Given the description of an element on the screen output the (x, y) to click on. 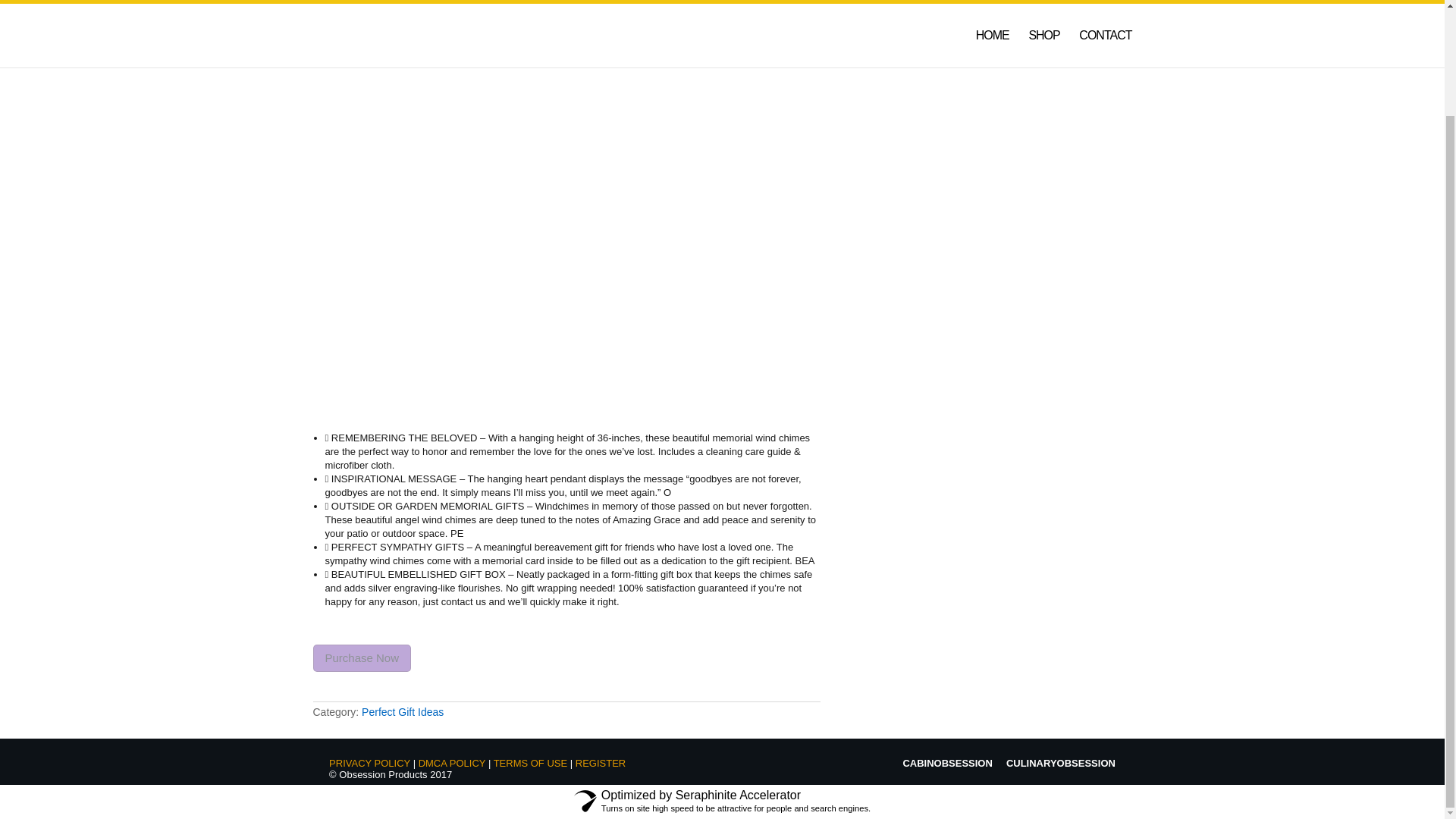
REGISTER (600, 763)
CABINOBSESSION (946, 763)
1 (451, 133)
1 (347, 301)
2 (416, 302)
DMCA POLICY (452, 763)
TERMS OF USE (530, 763)
7 (485, 373)
Purchase Now (361, 658)
3 (485, 301)
